Given the description of an element on the screen output the (x, y) to click on. 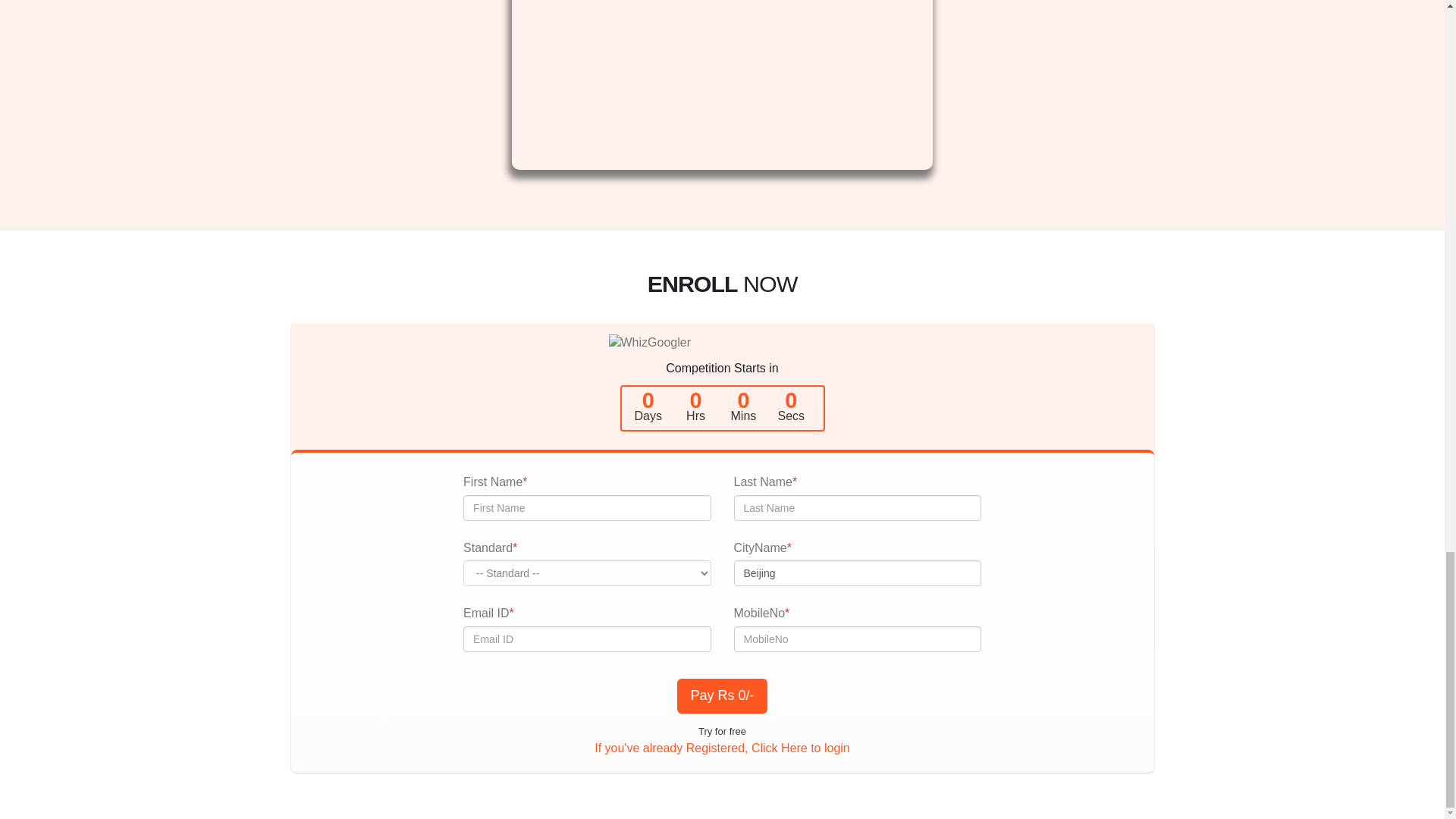
If you've already Registered, Click Here to login (722, 748)
Beijing (857, 573)
WhizGoogler (721, 343)
